Given the description of an element on the screen output the (x, y) to click on. 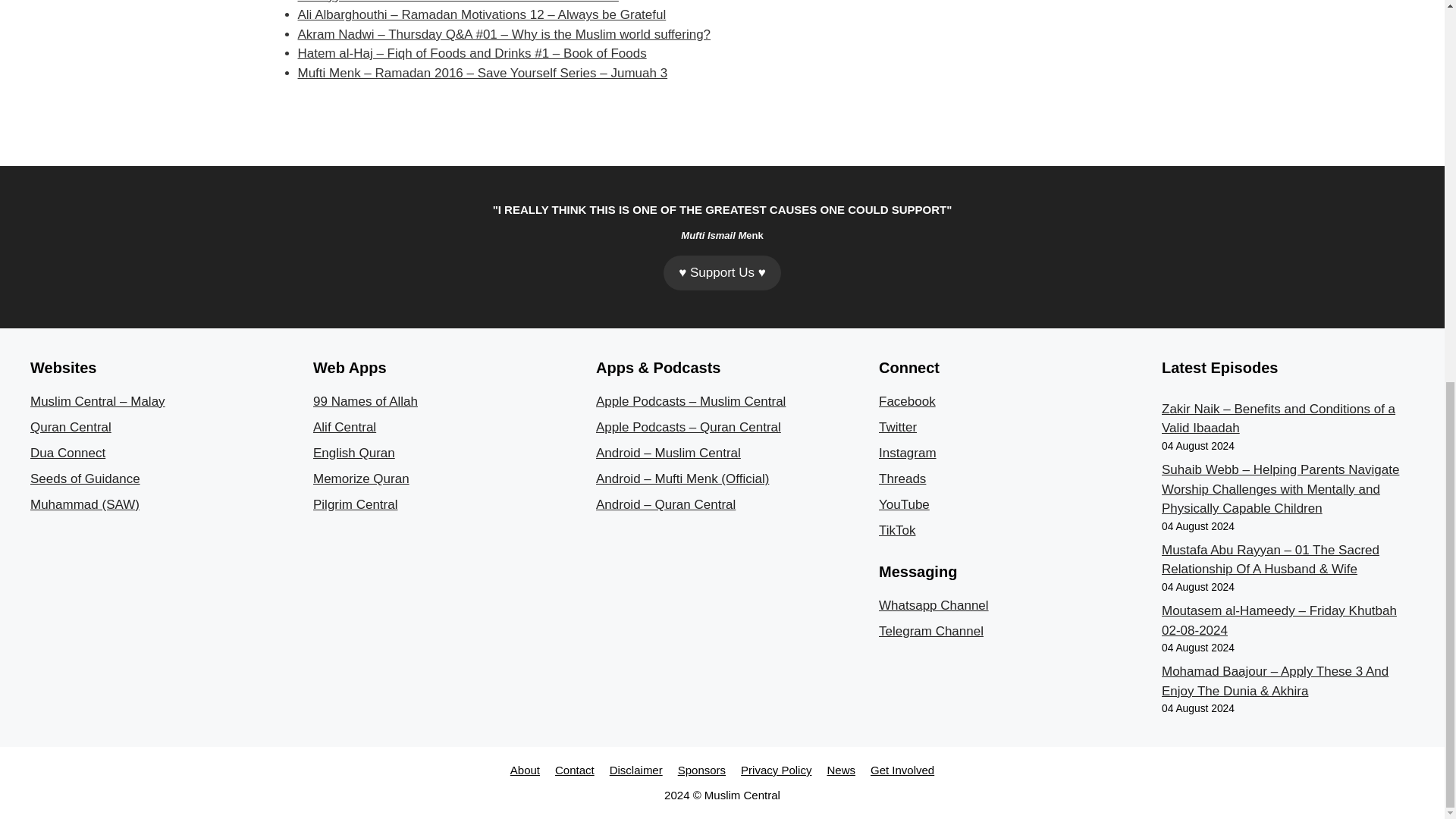
Alif Central (344, 427)
Seeds of Guidance (84, 478)
Memorize Quran (361, 478)
English Quran (353, 452)
Dua Connect (67, 452)
99 Names of Allah (365, 400)
Quran Central (71, 427)
